Given the description of an element on the screen output the (x, y) to click on. 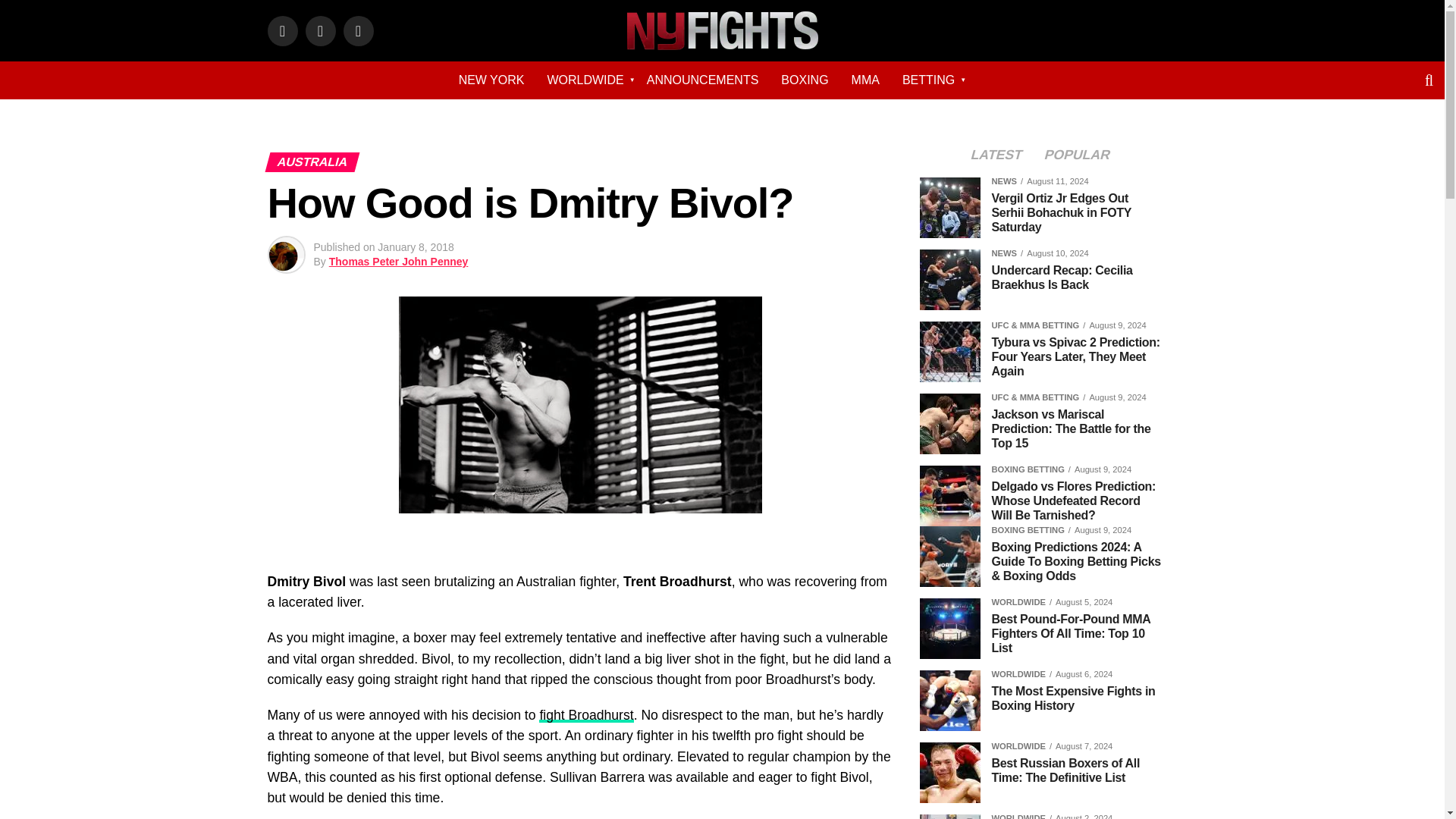
BOXING (805, 80)
NEW YORK (490, 80)
ANNOUNCEMENTS (702, 80)
MMA (865, 80)
WORLDWIDE (584, 80)
BETTING (928, 80)
